Given the description of an element on the screen output the (x, y) to click on. 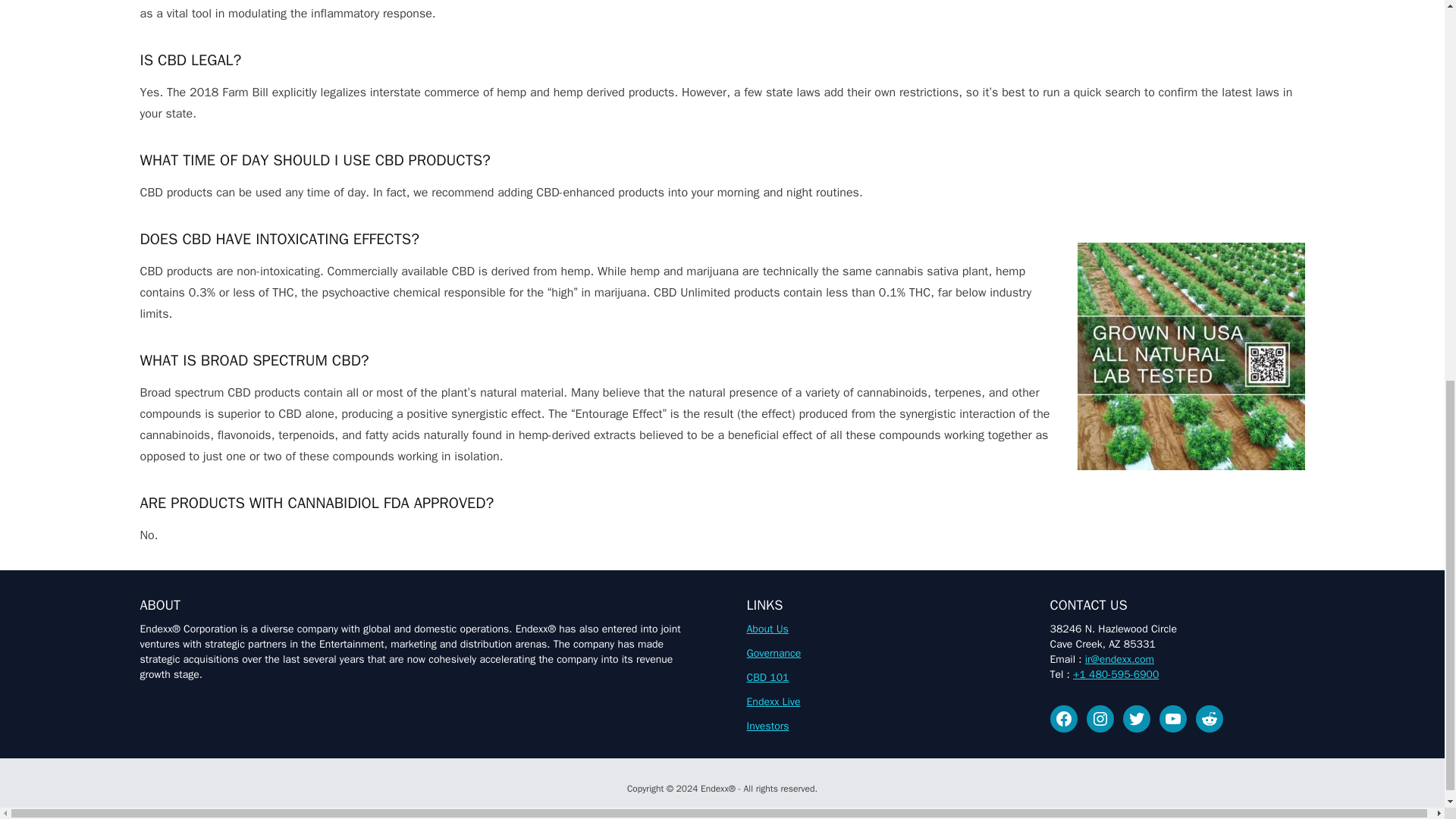
Reddit (1209, 718)
YouTube (1172, 718)
Instagram (1099, 718)
Facebook (1063, 718)
About Us (766, 628)
Twitter (1136, 718)
Endexx Live (772, 701)
Governance (772, 653)
CBD 101 (767, 676)
Investors (767, 725)
